Given the description of an element on the screen output the (x, y) to click on. 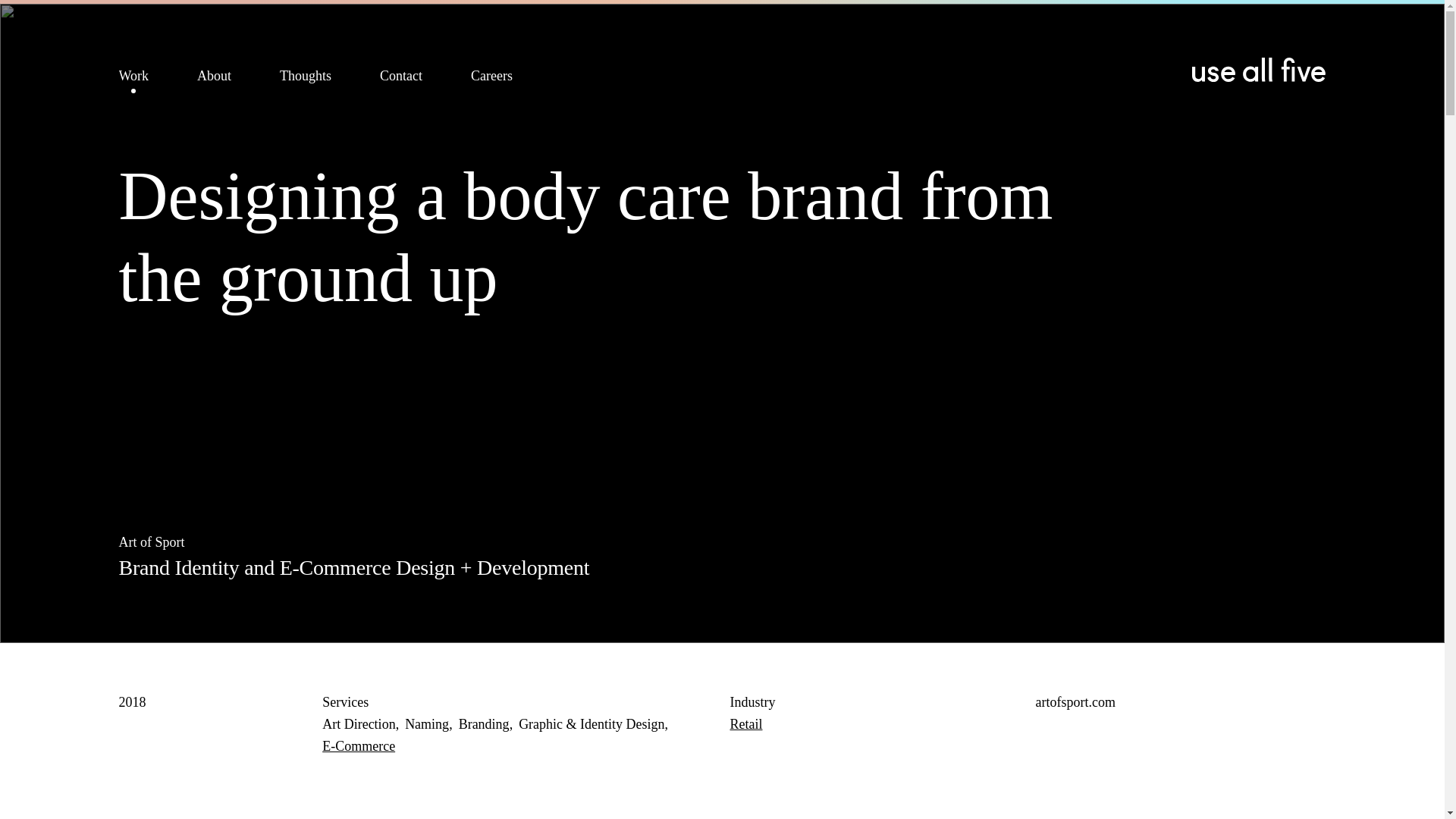
Thoughts (305, 79)
Retail (745, 724)
artofsport.com (1180, 702)
About (213, 79)
Contact (401, 79)
E-Commerce (357, 745)
Work (132, 79)
Careers (491, 79)
